Given the description of an element on the screen output the (x, y) to click on. 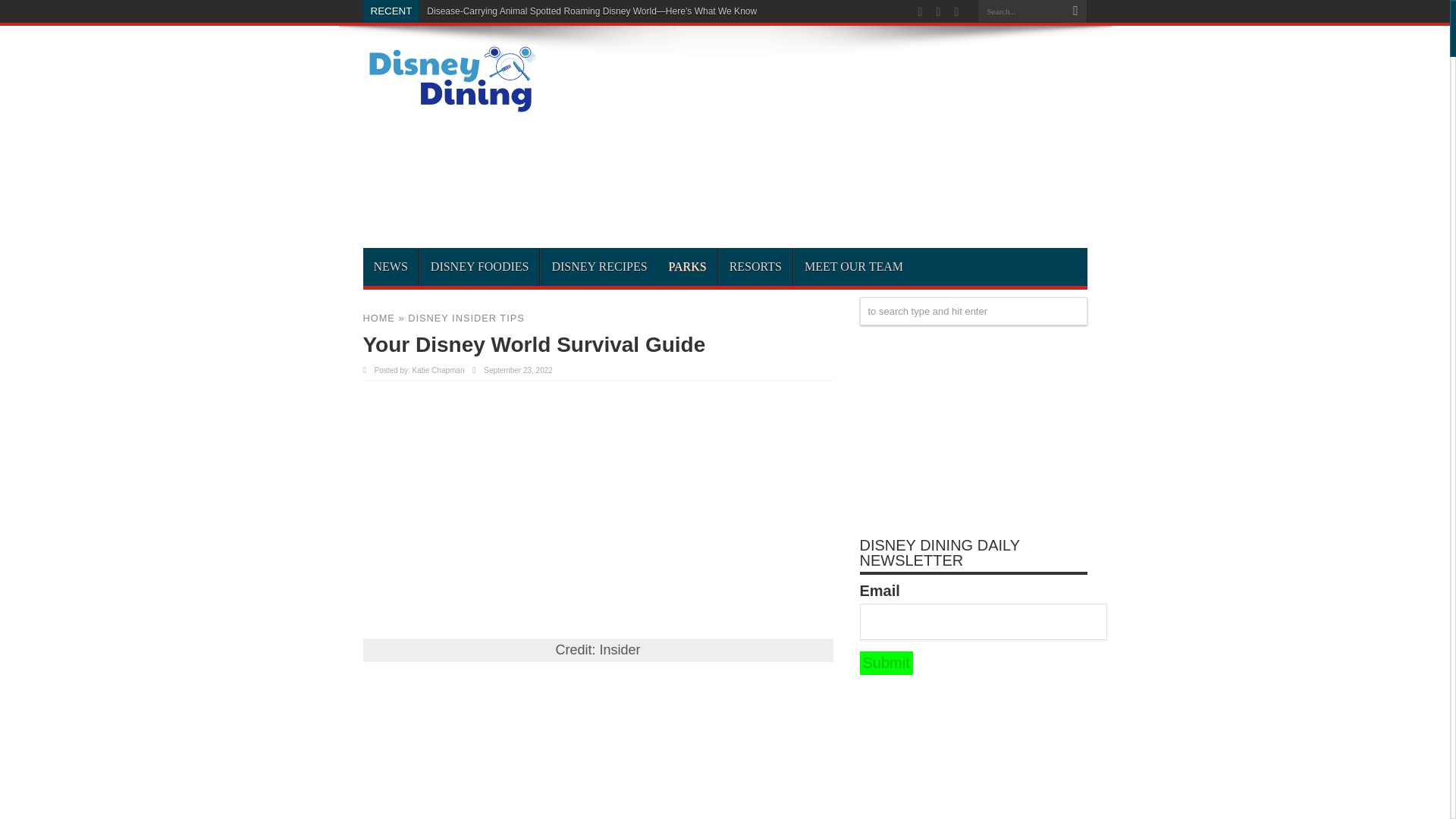
Disney Dining (448, 107)
Search (1075, 11)
RESORTS (754, 266)
NEWS (389, 266)
DISNEY FOODIES (479, 266)
HOME (378, 317)
MEET OUR TEAM (853, 266)
Katie Chapman (438, 370)
DISNEY RECIPES (599, 266)
DISNEY INSIDER TIPS (465, 317)
